Given the description of an element on the screen output the (x, y) to click on. 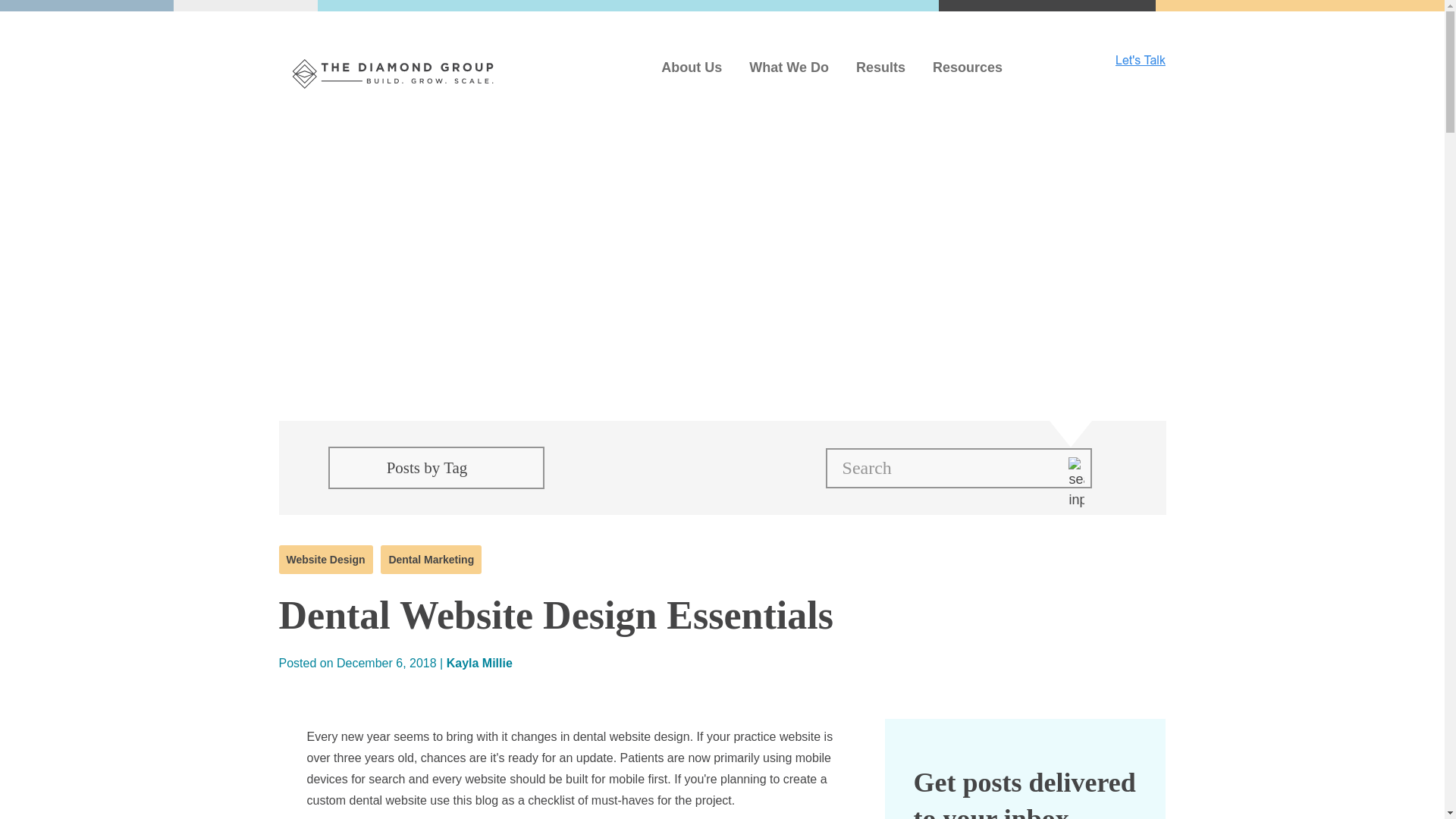
Resources (967, 67)
secondary horitzontal logo-all dark (392, 73)
What We Do (789, 67)
About Us (691, 67)
Results (880, 67)
